Given the description of an element on the screen output the (x, y) to click on. 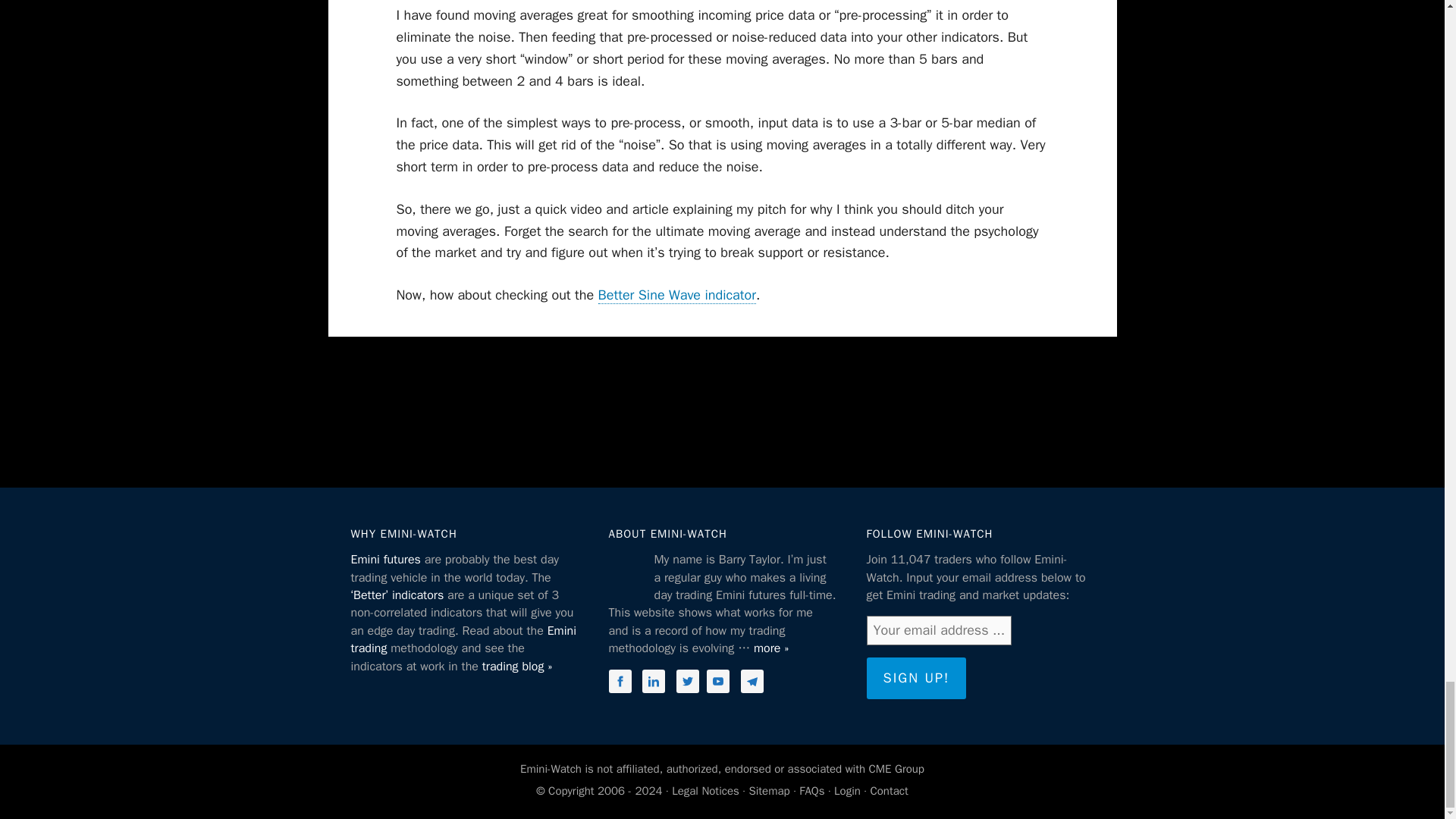
Emini trading (462, 639)
Sign Up! (916, 678)
Better Sine Wave indicator (676, 294)
Sitemap (768, 790)
Emini futures (385, 559)
Barry Taylor Emini-Watch (627, 573)
Sign Up! (916, 678)
Legal Notices (705, 790)
